Given the description of an element on the screen output the (x, y) to click on. 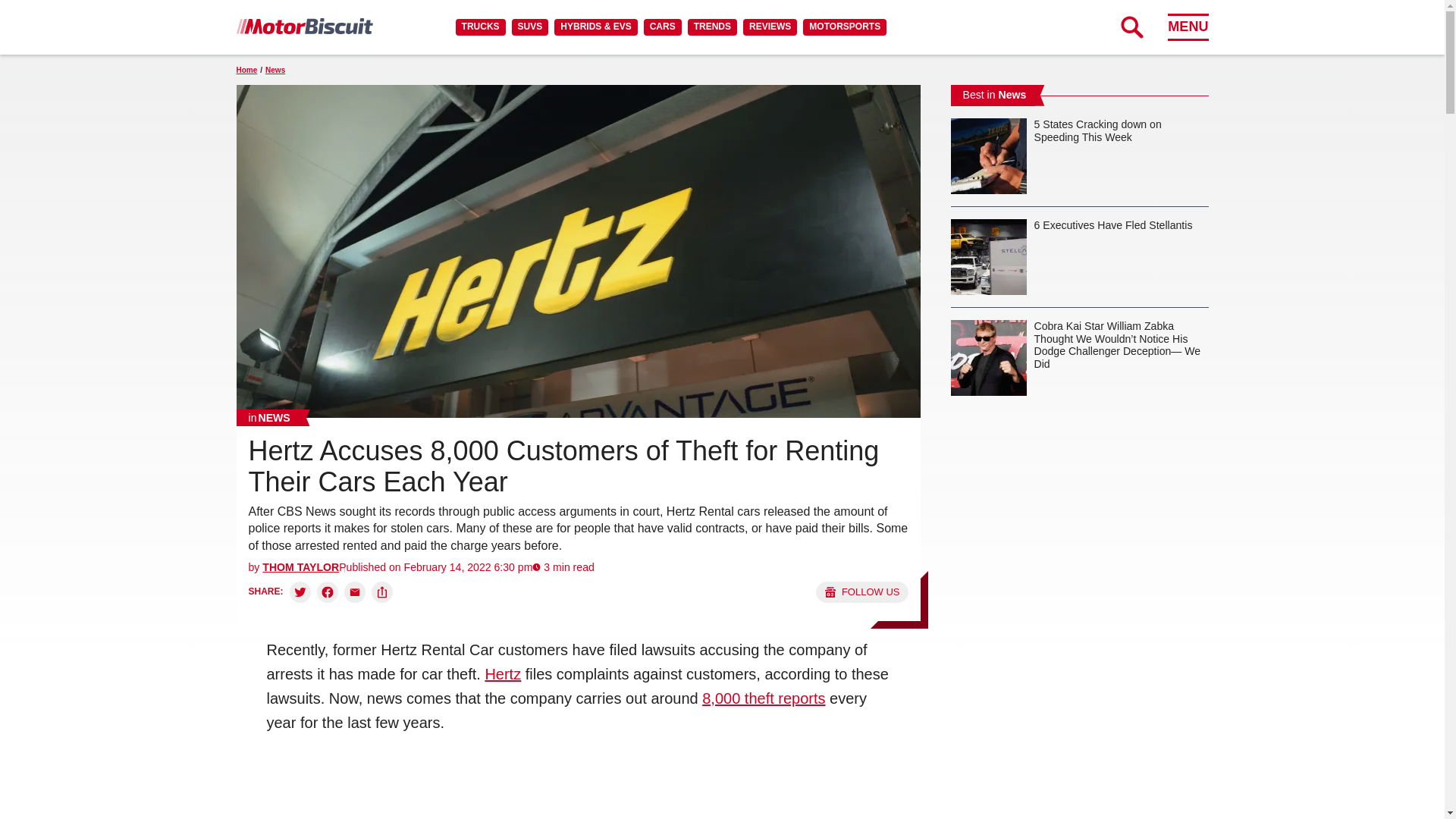
News (268, 417)
Expand Search (1131, 26)
Copy link and share:  (382, 591)
REVIEWS (769, 26)
MotorBiscuit (303, 26)
SUVS (530, 26)
TRUCKS (480, 26)
TRENDS (711, 26)
MOTORSPORTS (844, 26)
MENU (1187, 26)
CARS (662, 26)
Follow us on Google News (861, 591)
